Given the description of an element on the screen output the (x, y) to click on. 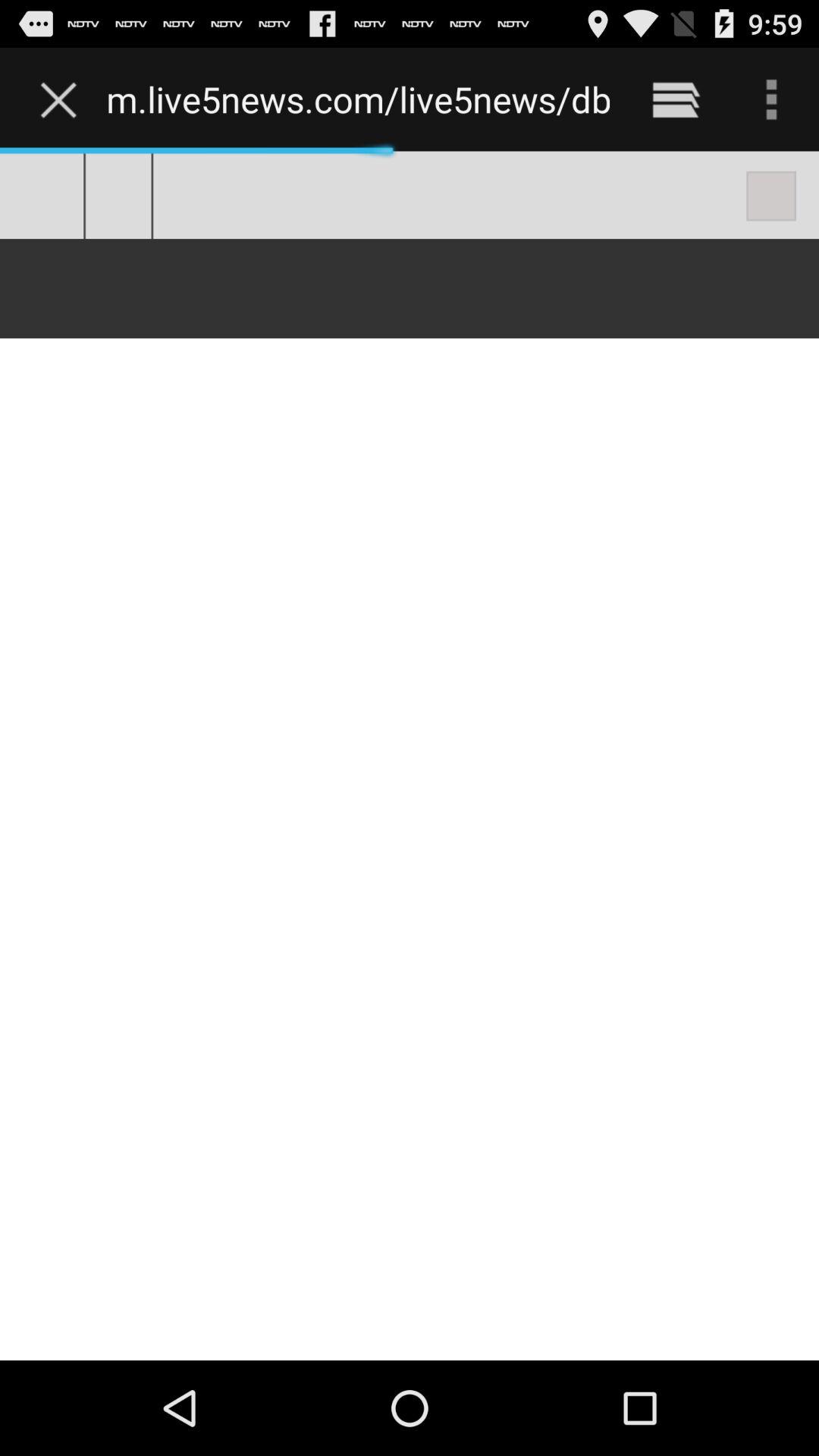
press m live5news com (357, 99)
